Given the description of an element on the screen output the (x, y) to click on. 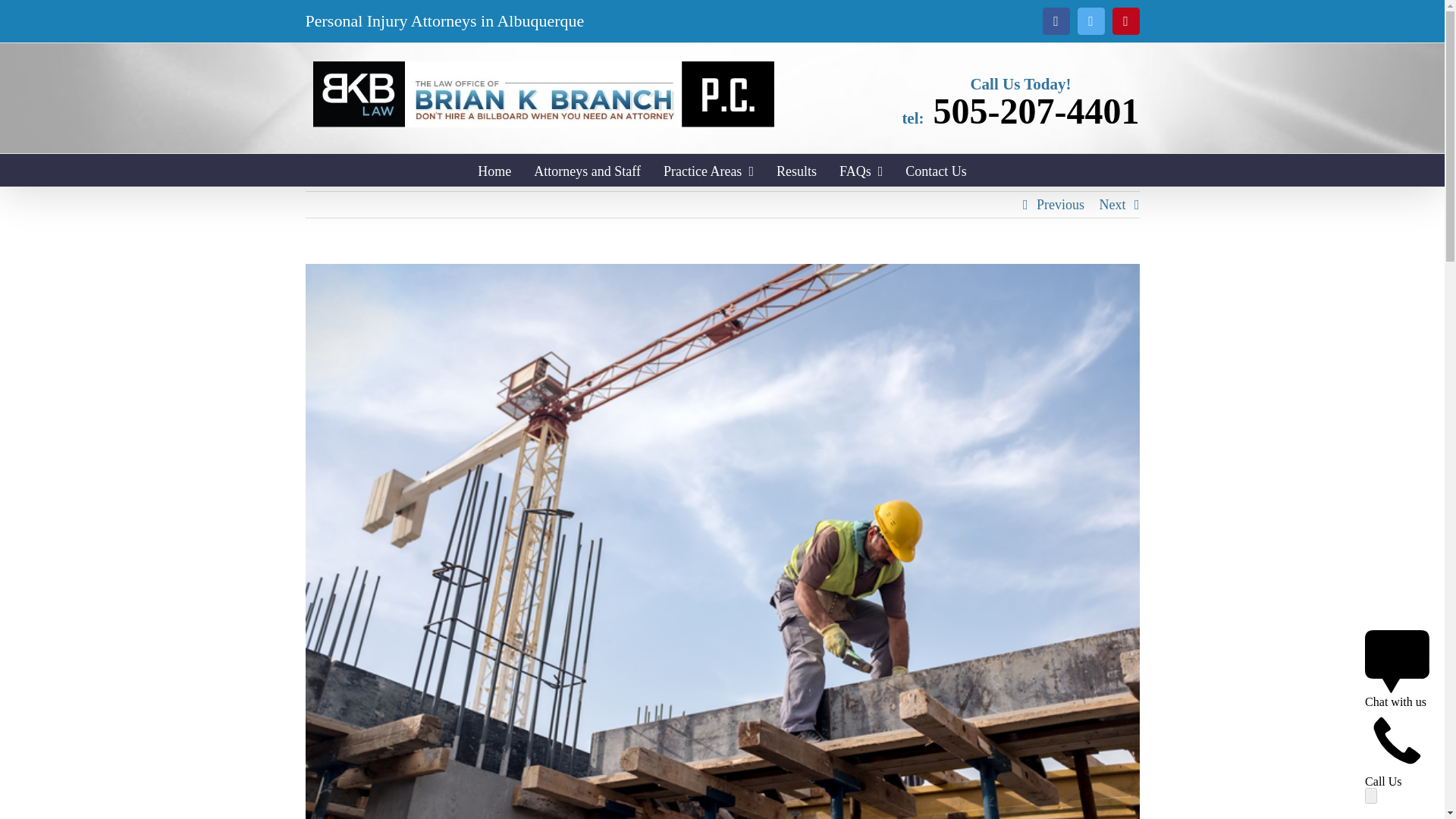
Practice Areas (708, 169)
Attorneys and Staff (587, 169)
Home (494, 169)
Pinterest (1125, 21)
Results (796, 169)
Facebook (1055, 21)
Twitter (1090, 21)
Contact Us (935, 169)
FAQs (861, 169)
